Given the description of an element on the screen output the (x, y) to click on. 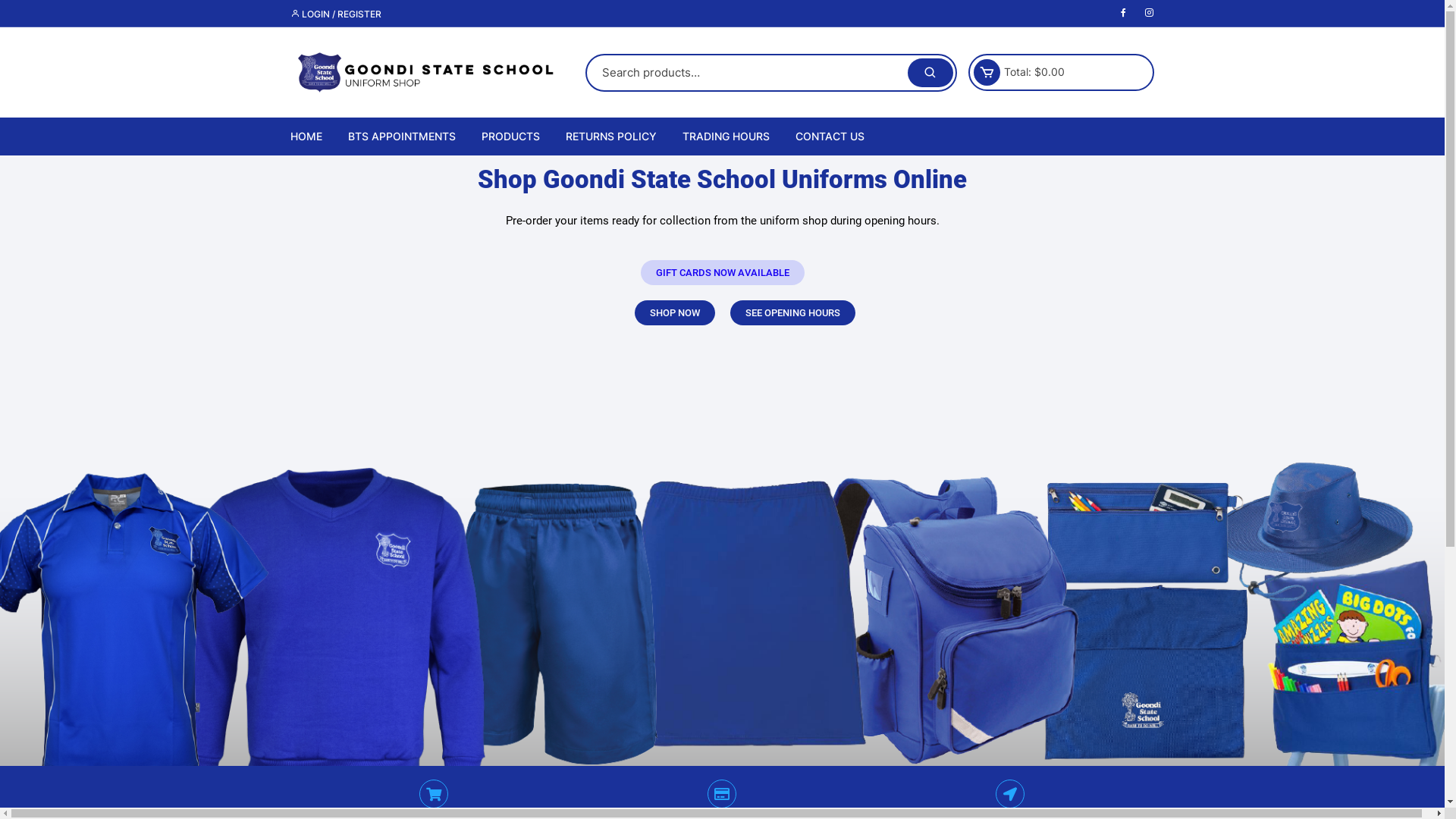
CONTACT US Element type: text (829, 136)
Website Hero Image 20211208 Element type: hover (722, 549)
SHOP NOW Element type: text (673, 312)
HOME Element type: text (310, 136)
PRODUCTS Element type: text (510, 136)
LOGIN / REGISTER Element type: text (334, 12)
BTS APPOINTMENTS Element type: text (401, 136)
GIFT CARDS NOW AVAILABLE Element type: text (721, 272)
SEE OPENING HOURS Element type: text (791, 312)
TRADING HOURS Element type: text (725, 136)
RETURNS POLICY Element type: text (610, 136)
